Given the description of an element on the screen output the (x, y) to click on. 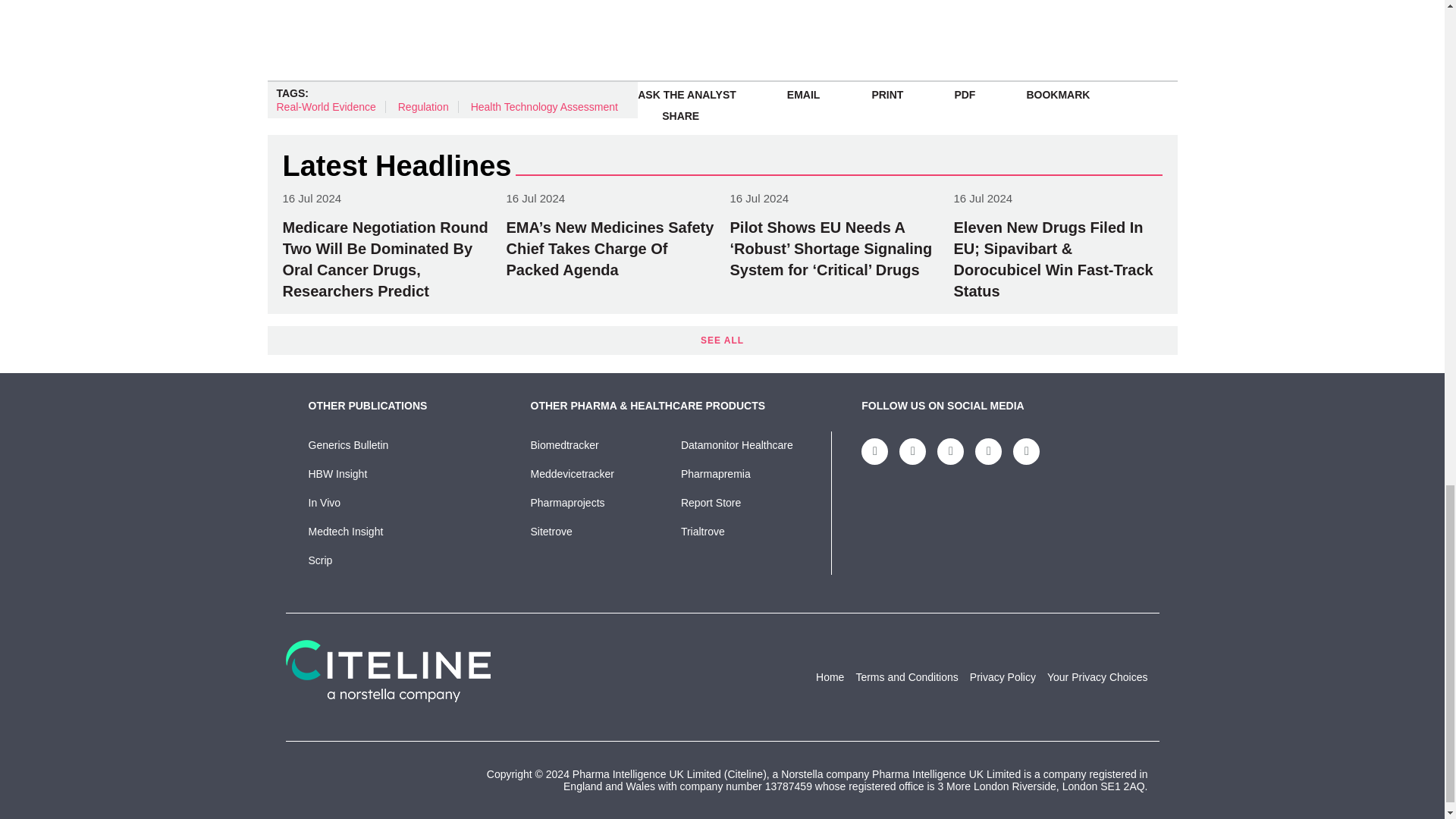
3rd party ad content (634, 28)
